Given the description of an element on the screen output the (x, y) to click on. 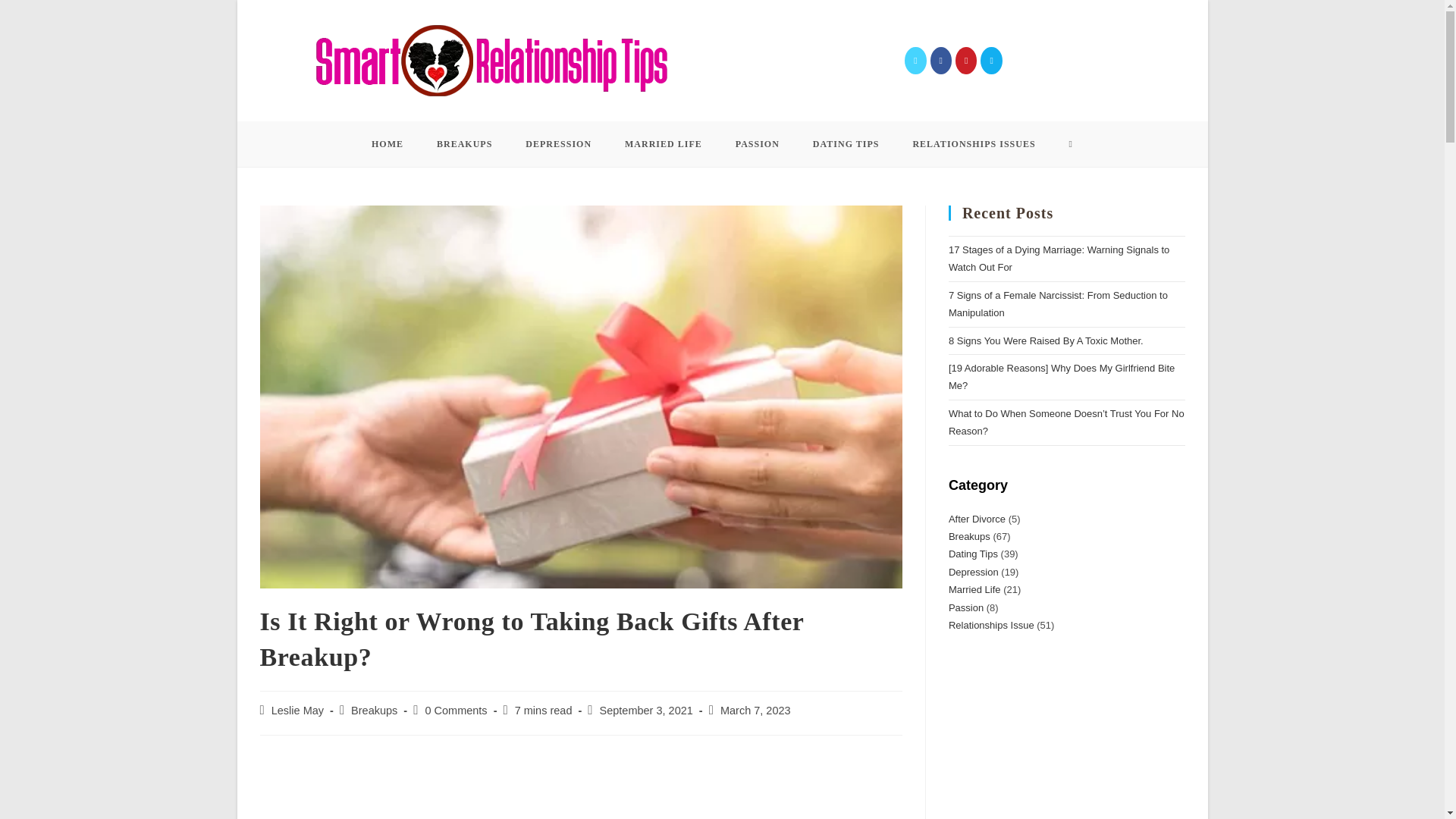
PASSION (757, 144)
BREAKUPS (464, 144)
Advertisement (581, 785)
MARRIED LIFE (663, 144)
HOME (387, 144)
0 Comments (455, 710)
Breakups (373, 710)
DEPRESSION (558, 144)
Leslie May (296, 710)
RELATIONSHIPS ISSUES (973, 144)
